Given the description of an element on the screen output the (x, y) to click on. 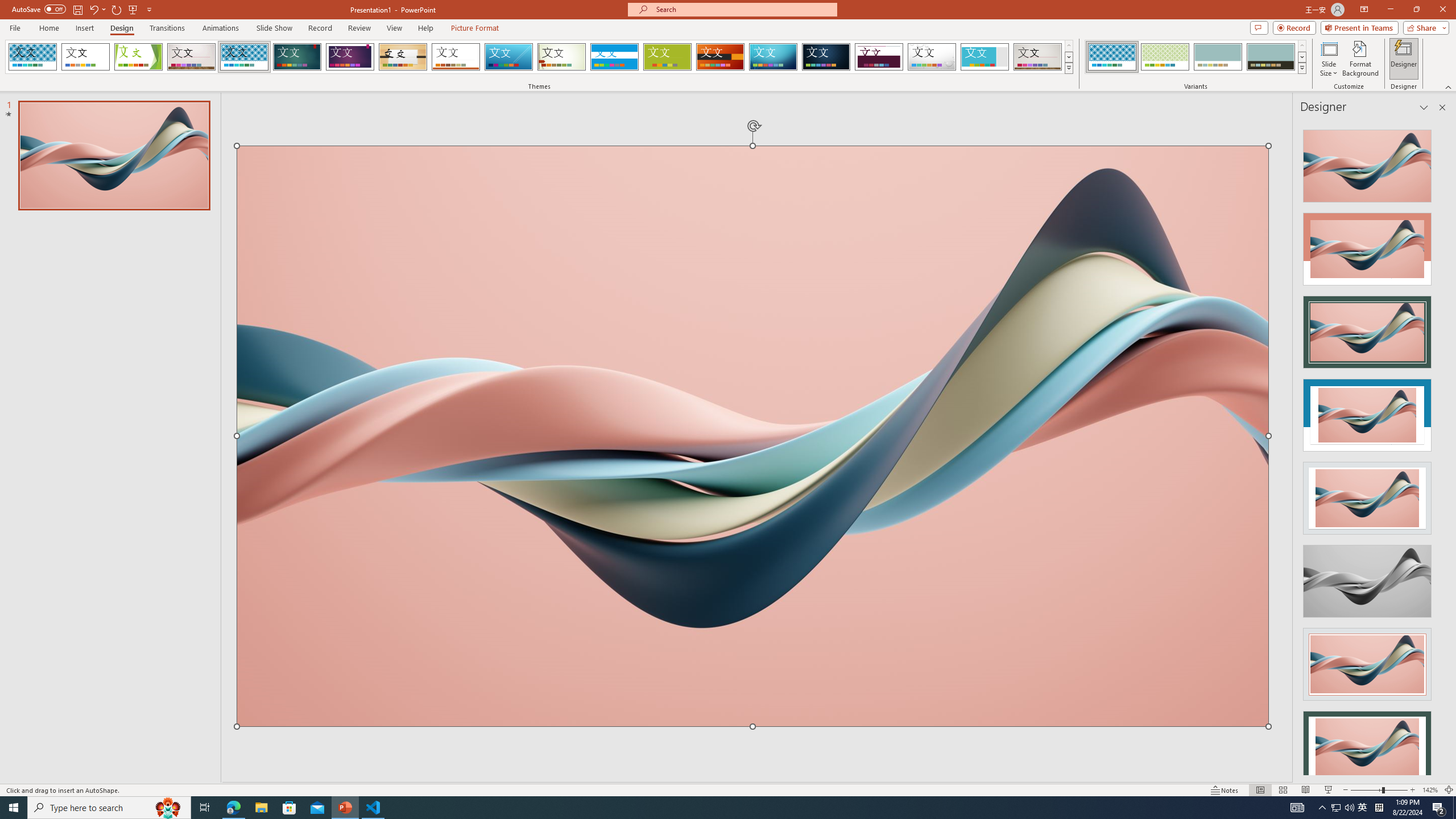
AutomationID: SlideThemesGallery (539, 56)
Gallery (1037, 56)
Picture Format (475, 28)
Organic (403, 56)
Zoom 142% (1430, 790)
Office Theme (85, 56)
Integral Variant 3 (1217, 56)
